Given the description of an element on the screen output the (x, y) to click on. 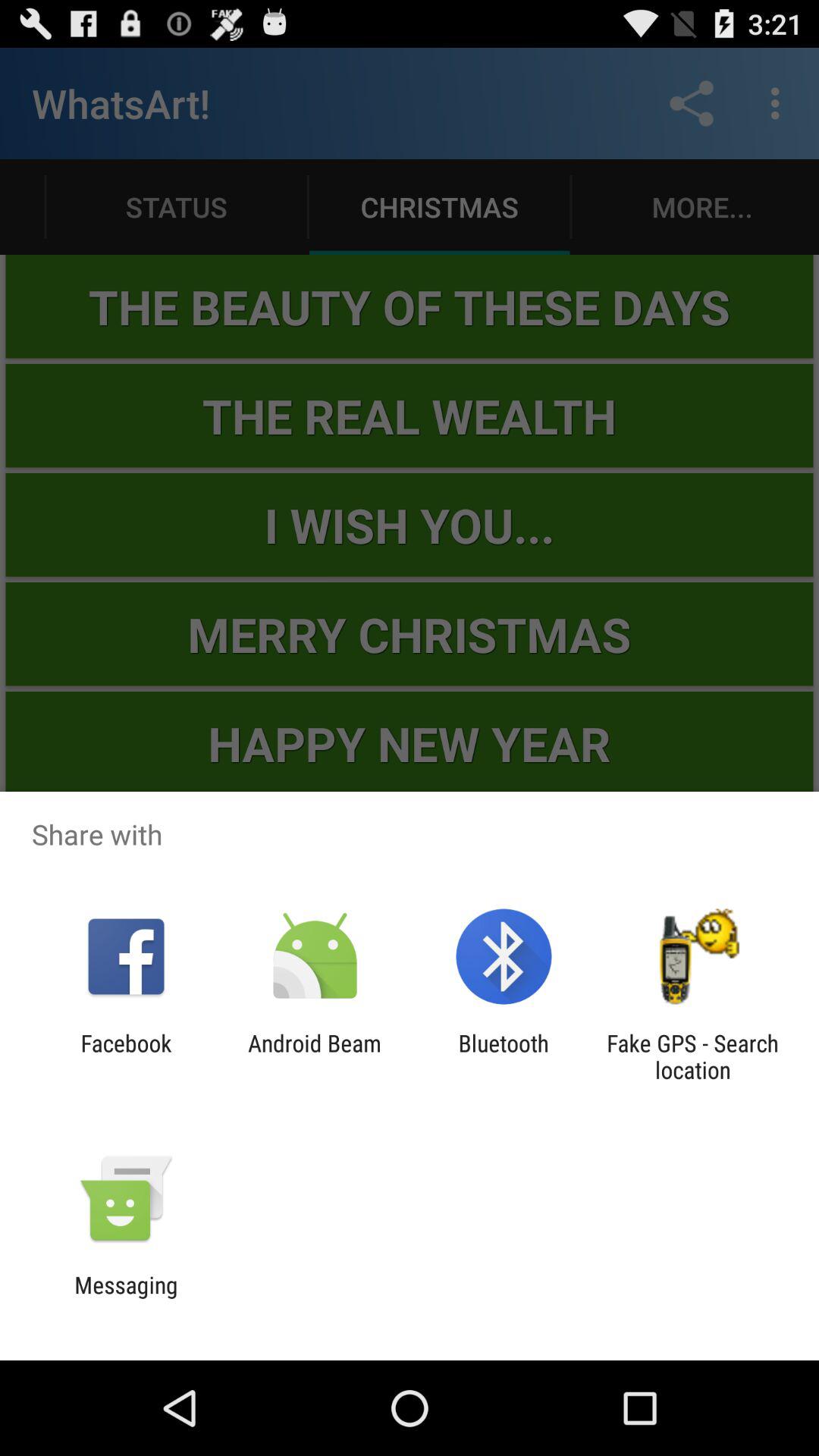
tap item next to android beam (503, 1056)
